Given the description of an element on the screen output the (x, y) to click on. 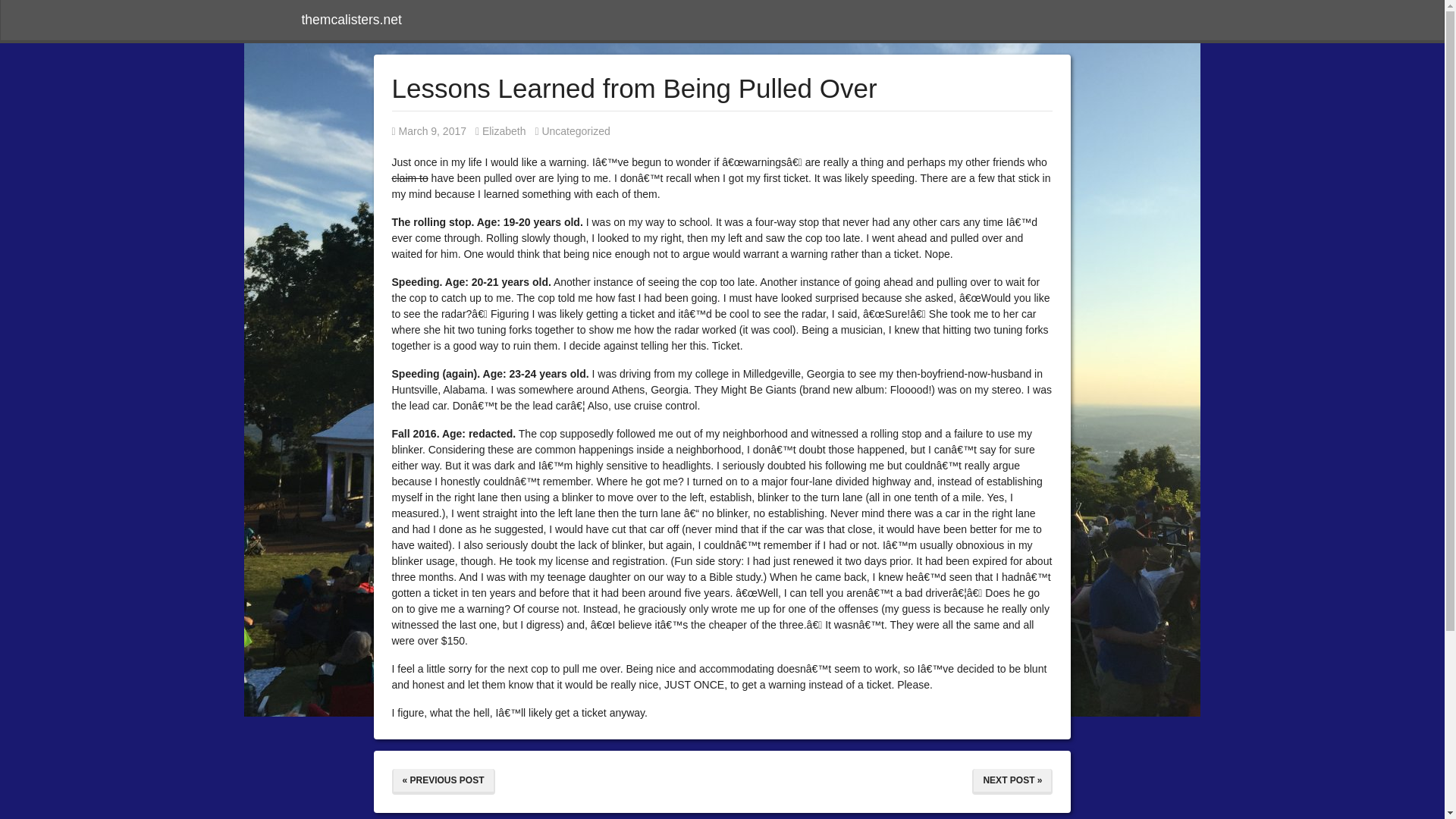
Uncategorized (500, 131)
themcalisters.net (575, 131)
